Given the description of an element on the screen output the (x, y) to click on. 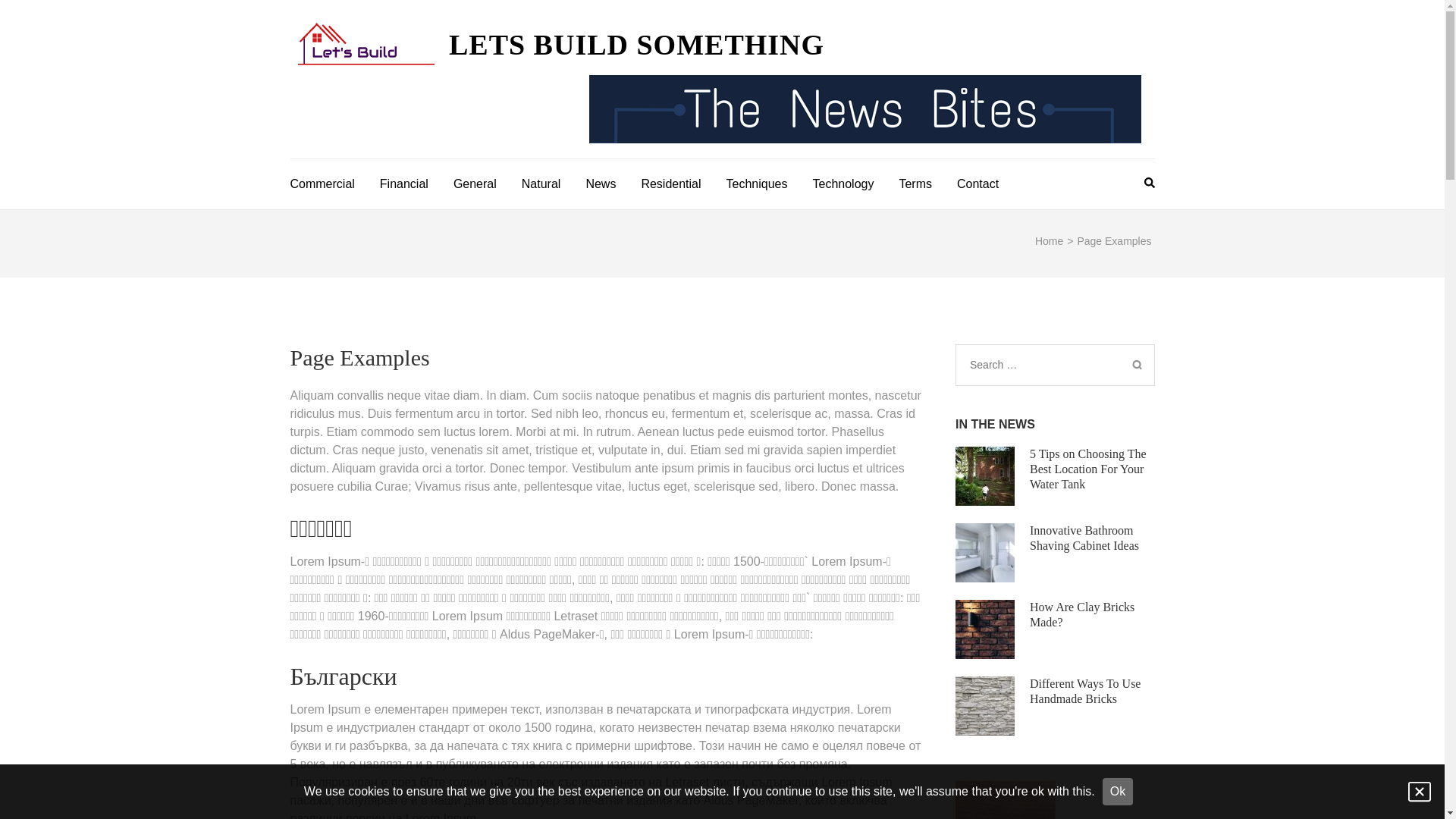
Terms Element type: text (914, 181)
Natural Element type: text (541, 181)
Different Ways To Use Handmade Bricks Element type: text (1084, 691)
Commercial Element type: text (321, 181)
Financial Element type: text (403, 181)
Search Element type: text (1136, 364)
News Element type: text (600, 181)
LETS BUILD SOMETHING Element type: text (636, 44)
General Element type: text (474, 181)
Techniques Element type: text (756, 181)
Ok Element type: text (1117, 791)
Home Element type: text (1049, 241)
5 Tips on Choosing The Best Location For Your Water Tank Element type: text (1087, 468)
Innovative Bathroom Shaving Cabinet Ideas Element type: text (1084, 538)
Contact Element type: text (977, 181)
How Are Clay Bricks Made? Element type: text (1081, 614)
Technology Element type: text (843, 181)
Residential Element type: text (670, 181)
